Given the description of an element on the screen output the (x, y) to click on. 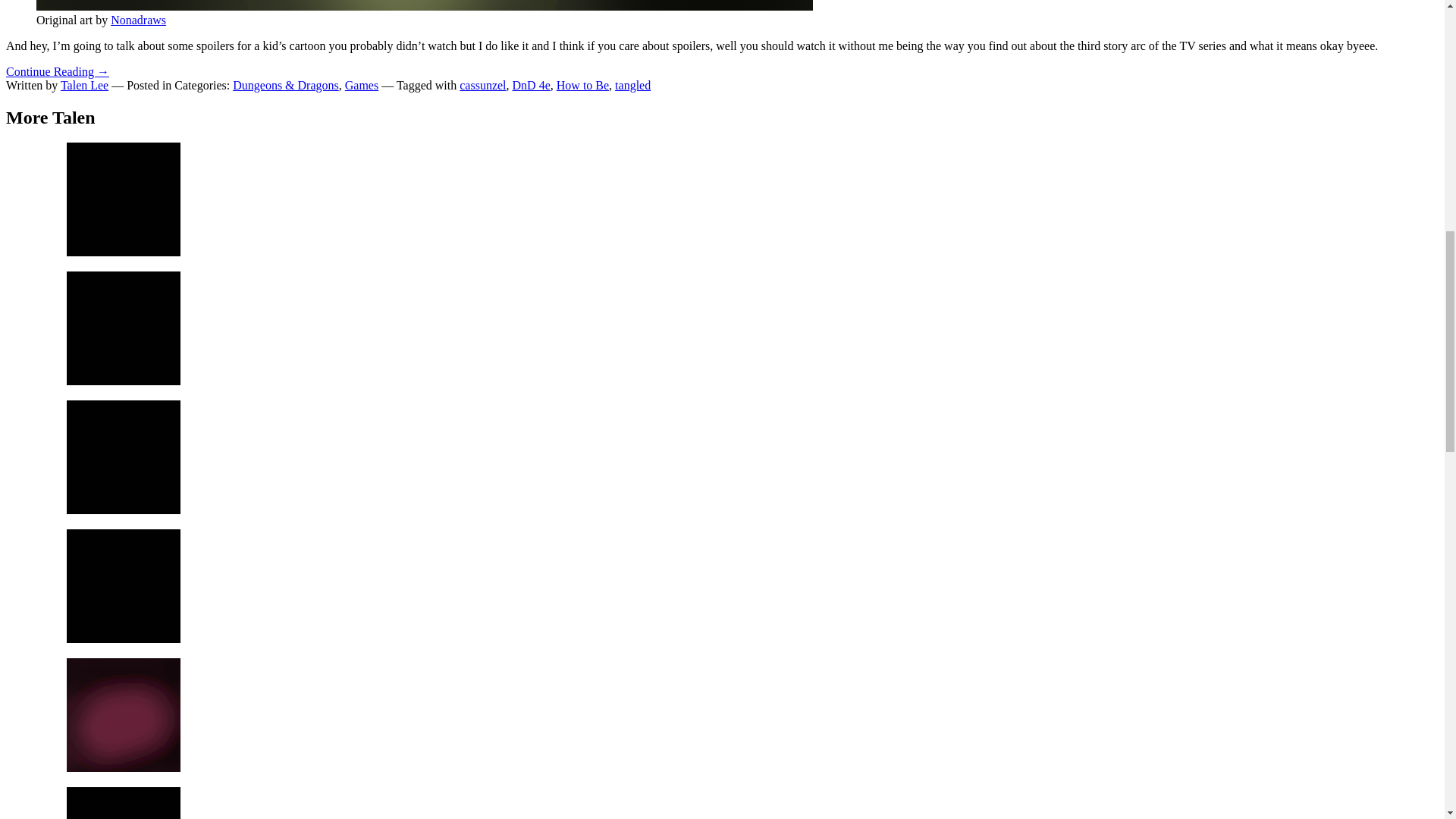
Nonadraws (137, 19)
Check out Talen on Mastodon! (123, 803)
DnD 4e (531, 84)
Check out Talen's books! (123, 327)
Games (361, 84)
Check out Talen on Redbubble! (123, 585)
Talen Lee (84, 84)
Check out Talen's games at Invincible Ink (123, 199)
Check out Talen on Youtube! (123, 457)
tangled (632, 84)
